Given the description of an element on the screen output the (x, y) to click on. 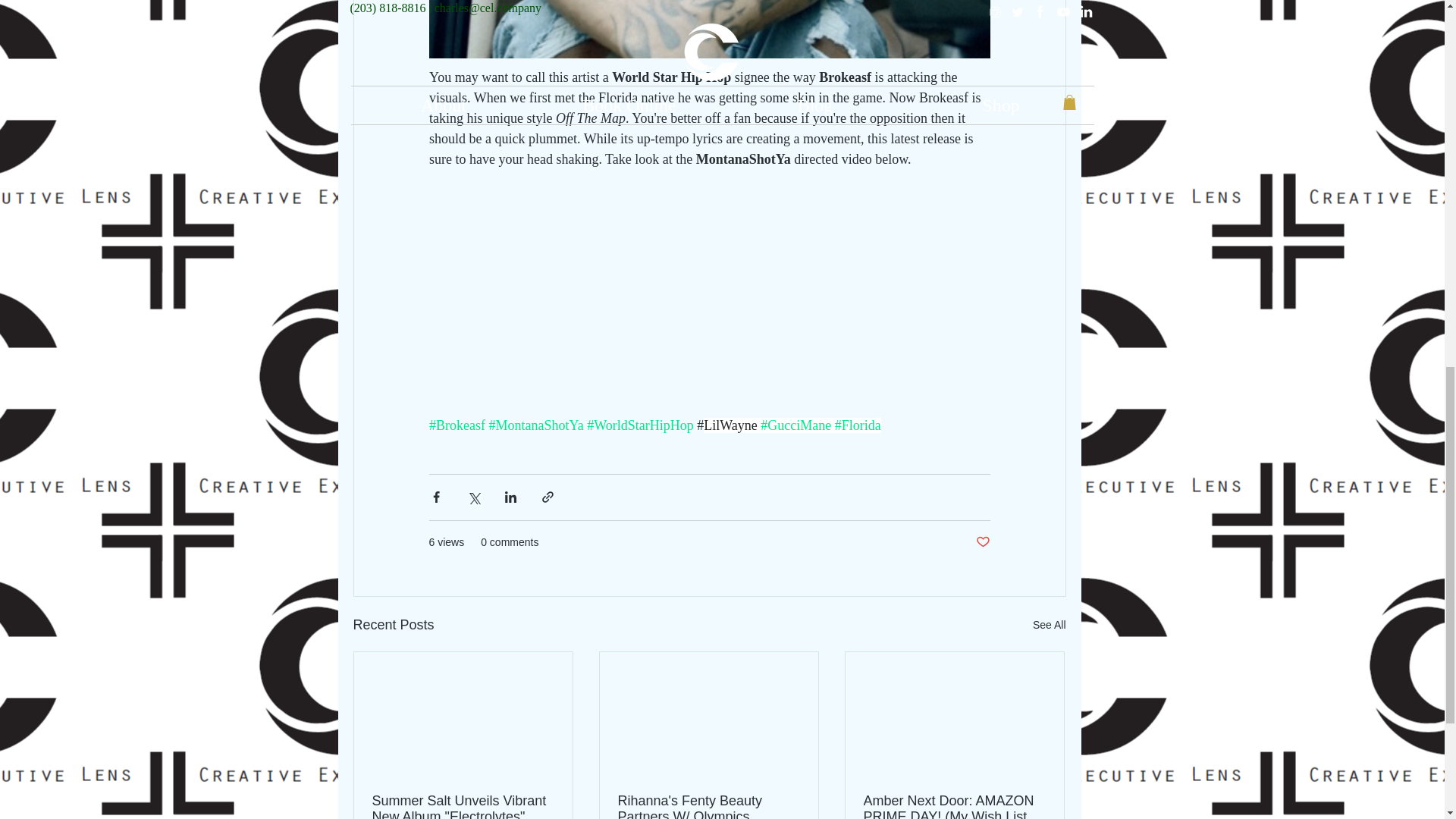
Post not marked as liked (982, 542)
Summer Salt Unveils Vibrant New Album "Electrolytes" (462, 806)
See All (1048, 625)
